Given the description of an element on the screen output the (x, y) to click on. 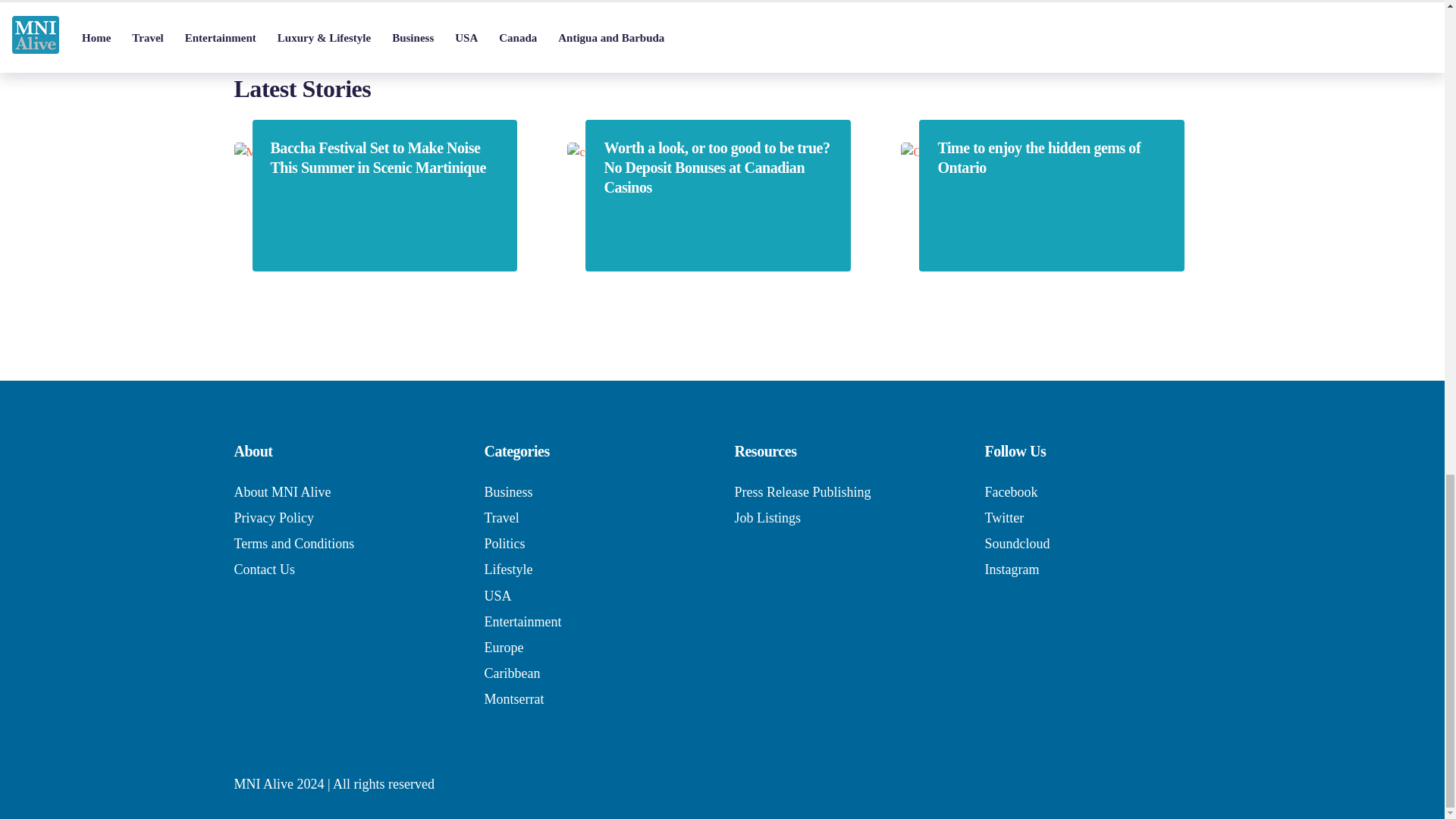
USA (497, 595)
Soundcloud (1016, 543)
Travel (500, 517)
Press Release Publishing (801, 491)
Entertainment (521, 621)
Terms and Conditions (292, 543)
Montserrat (513, 698)
Contact Us (263, 569)
Twitter (1003, 517)
Politics (503, 543)
About MNI Alive (281, 491)
Instagram (1011, 569)
Caribbean (511, 672)
Privacy Policy (273, 517)
